Given the description of an element on the screen output the (x, y) to click on. 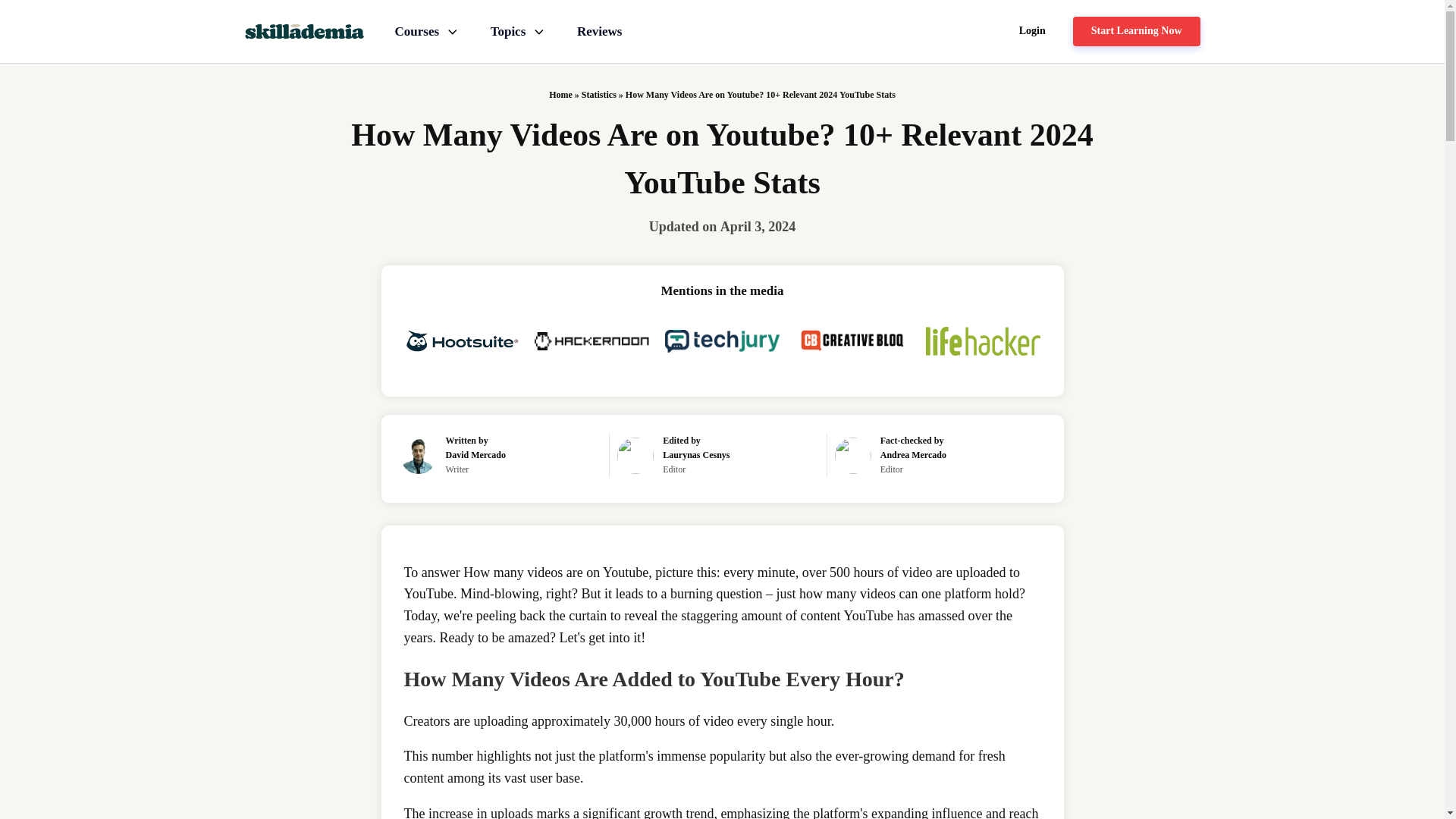
Home (560, 94)
Statistics (597, 94)
Start Learning Now (1136, 30)
Courses (427, 30)
David Mercado (475, 454)
Topics (518, 30)
Login (1032, 30)
Laurynas Cesnys (695, 454)
Andrea Mercado (913, 454)
